Given the description of an element on the screen output the (x, y) to click on. 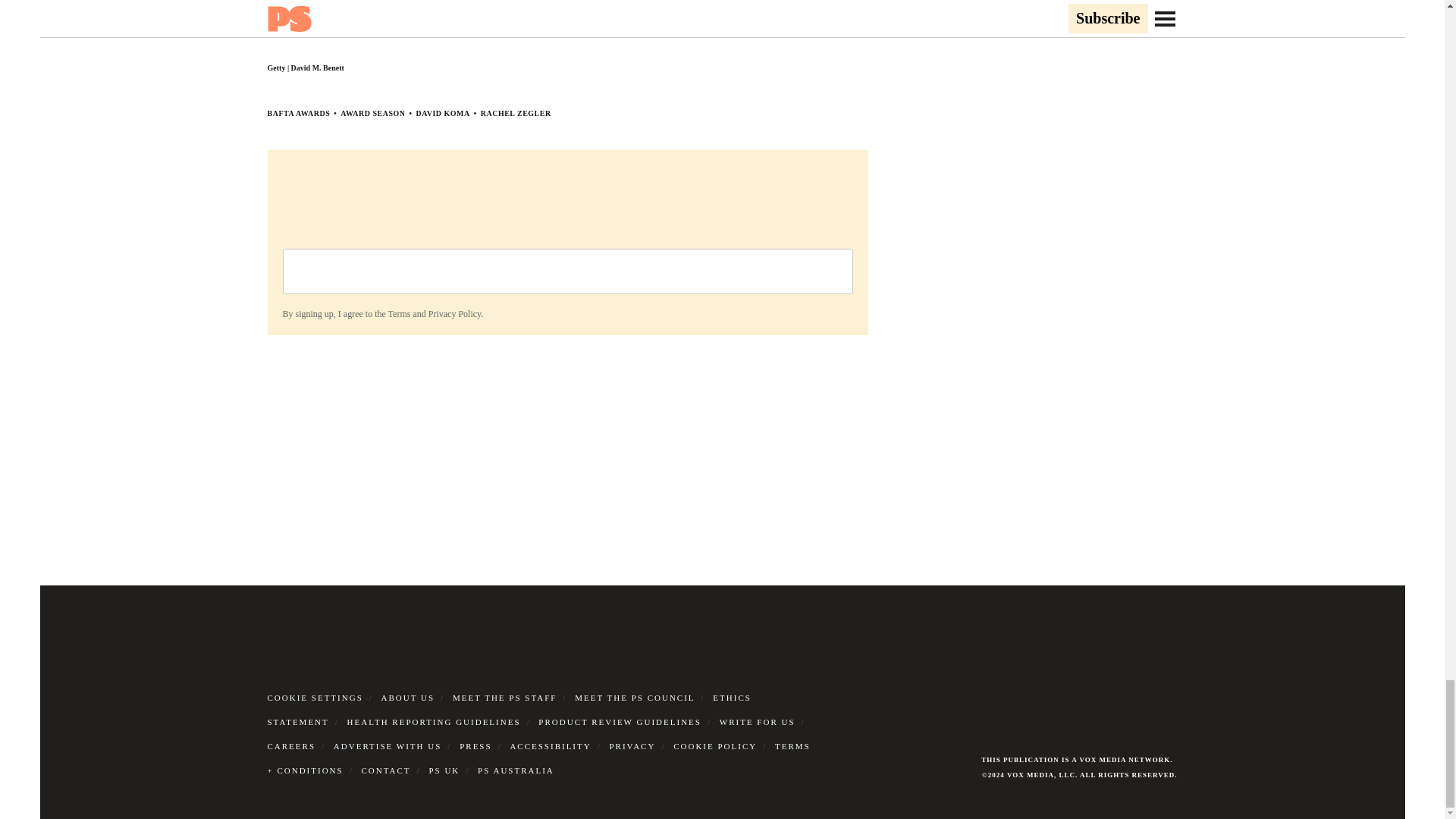
DAVID KOMA (441, 112)
Privacy Policy. (455, 313)
AWARD SEASON (372, 112)
BAFTA AWARDS (298, 112)
RACHEL ZEGLER (515, 112)
Terms (399, 313)
ABOUT US (408, 697)
MEET THE PS COUNCIL (634, 697)
MEET THE PS STAFF (504, 697)
